Given the description of an element on the screen output the (x, y) to click on. 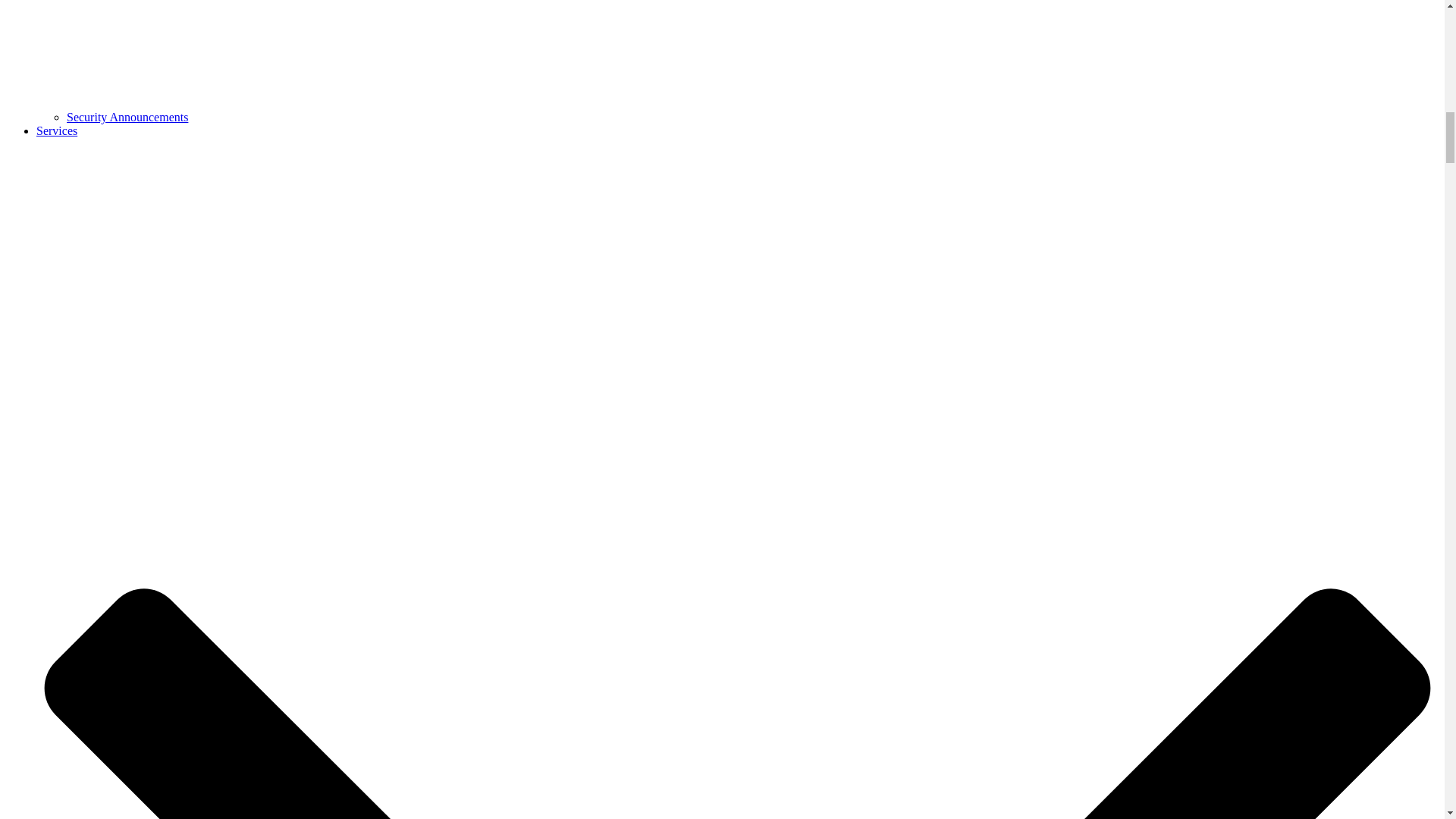
Services (56, 130)
Security Announcements (126, 116)
